Given the description of an element on the screen output the (x, y) to click on. 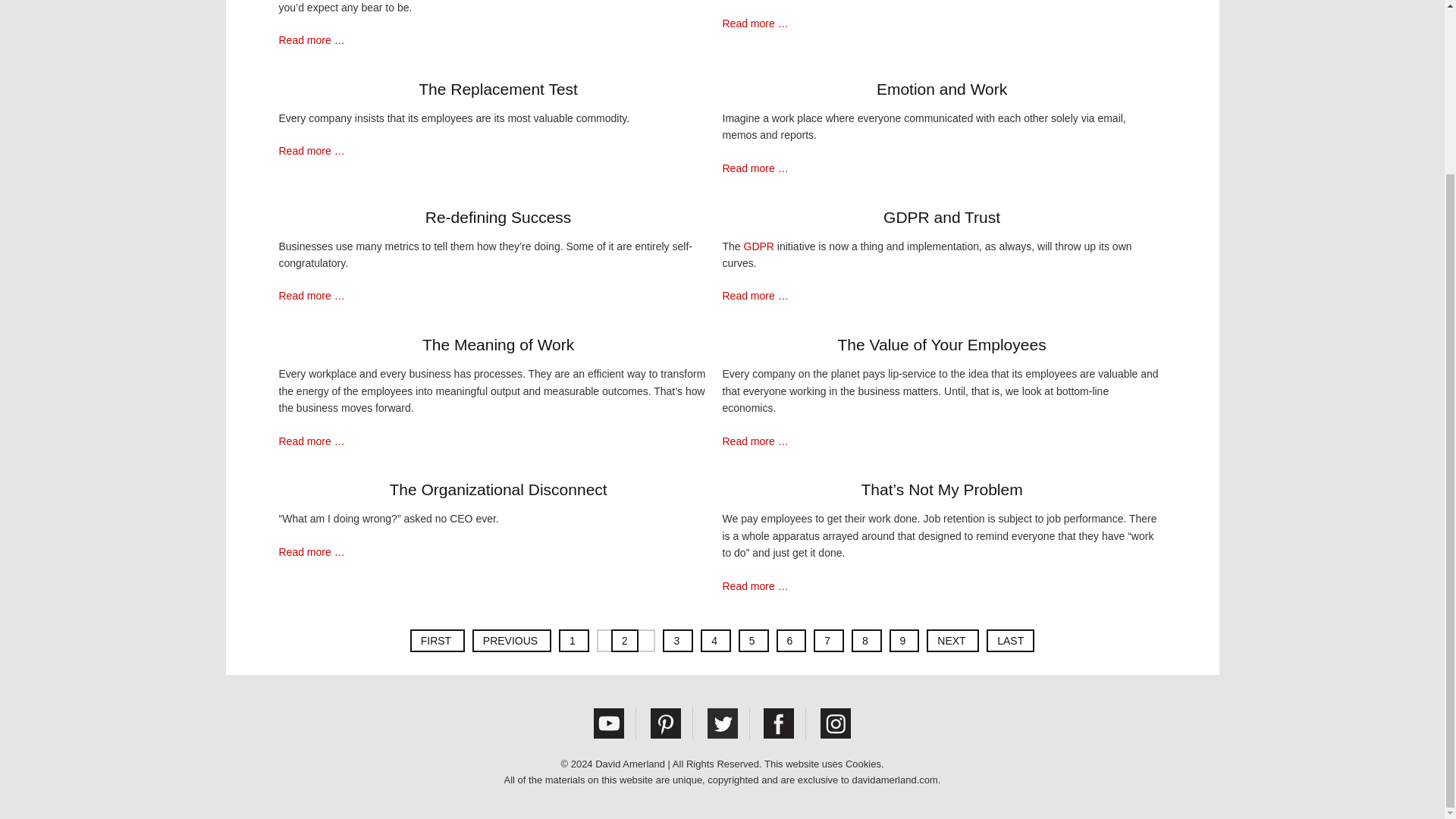
GDPR initiative (759, 246)
The Value of Your Employees (941, 345)
GDPR (759, 246)
4 (715, 640)
3 (677, 640)
6 (791, 640)
The Replacement Test (498, 89)
5 (753, 640)
1 (574, 640)
2 (625, 640)
